Given the description of an element on the screen output the (x, y) to click on. 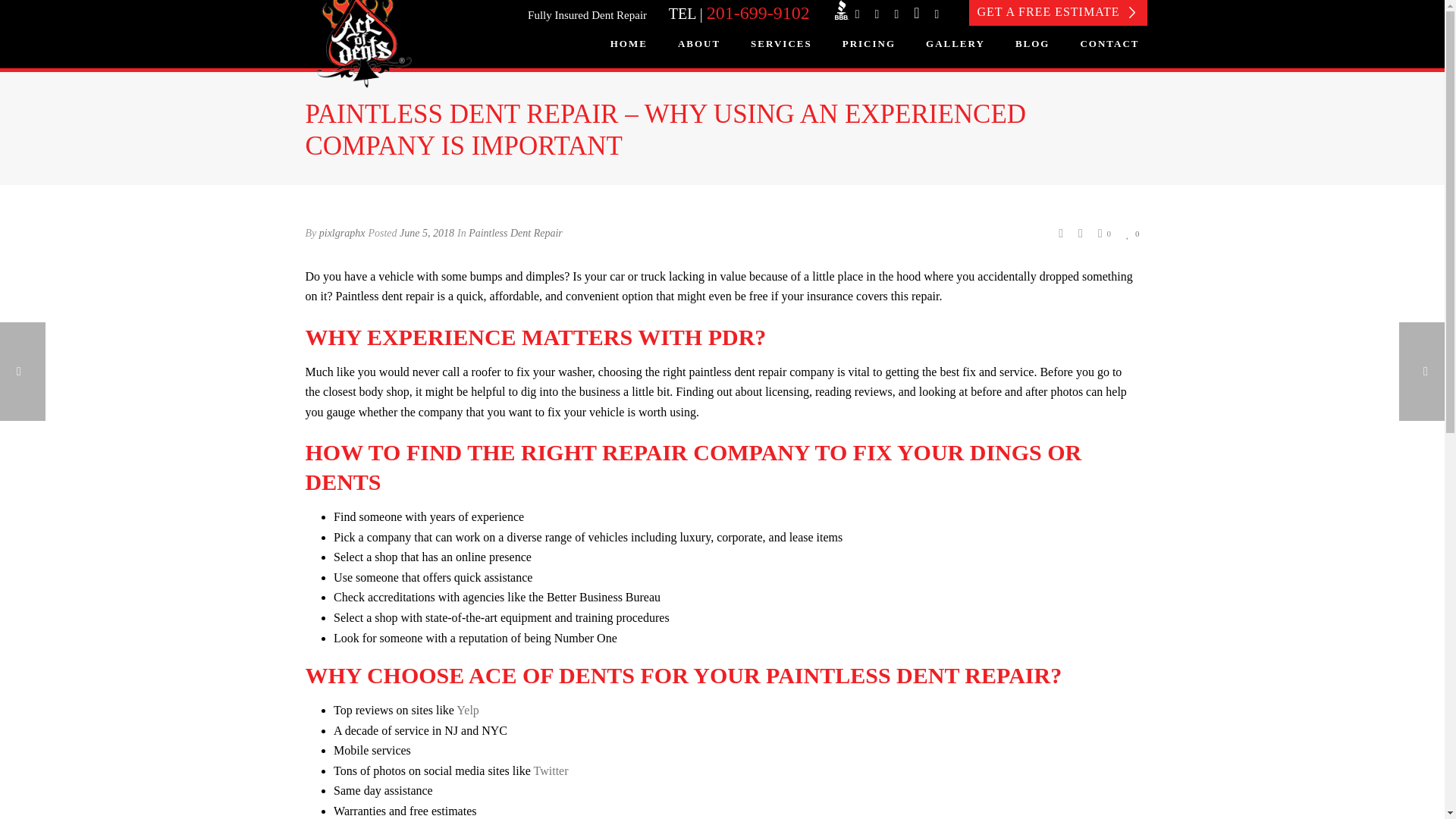
Paintless Dent Repair (515, 233)
  0 (1132, 232)
CONTACT (1109, 46)
pixlgraphx (341, 233)
GALLERY (955, 46)
HOME (628, 46)
GET A FREE ESTIMATE (1058, 12)
BLOG (1032, 46)
Yelp (468, 709)
SERVICES (781, 46)
Posts by pixlgraphx (341, 233)
ABOUT (698, 46)
June 5, 2018 (426, 233)
PRICING (869, 46)
Twitter (551, 770)
